Given the description of an element on the screen output the (x, y) to click on. 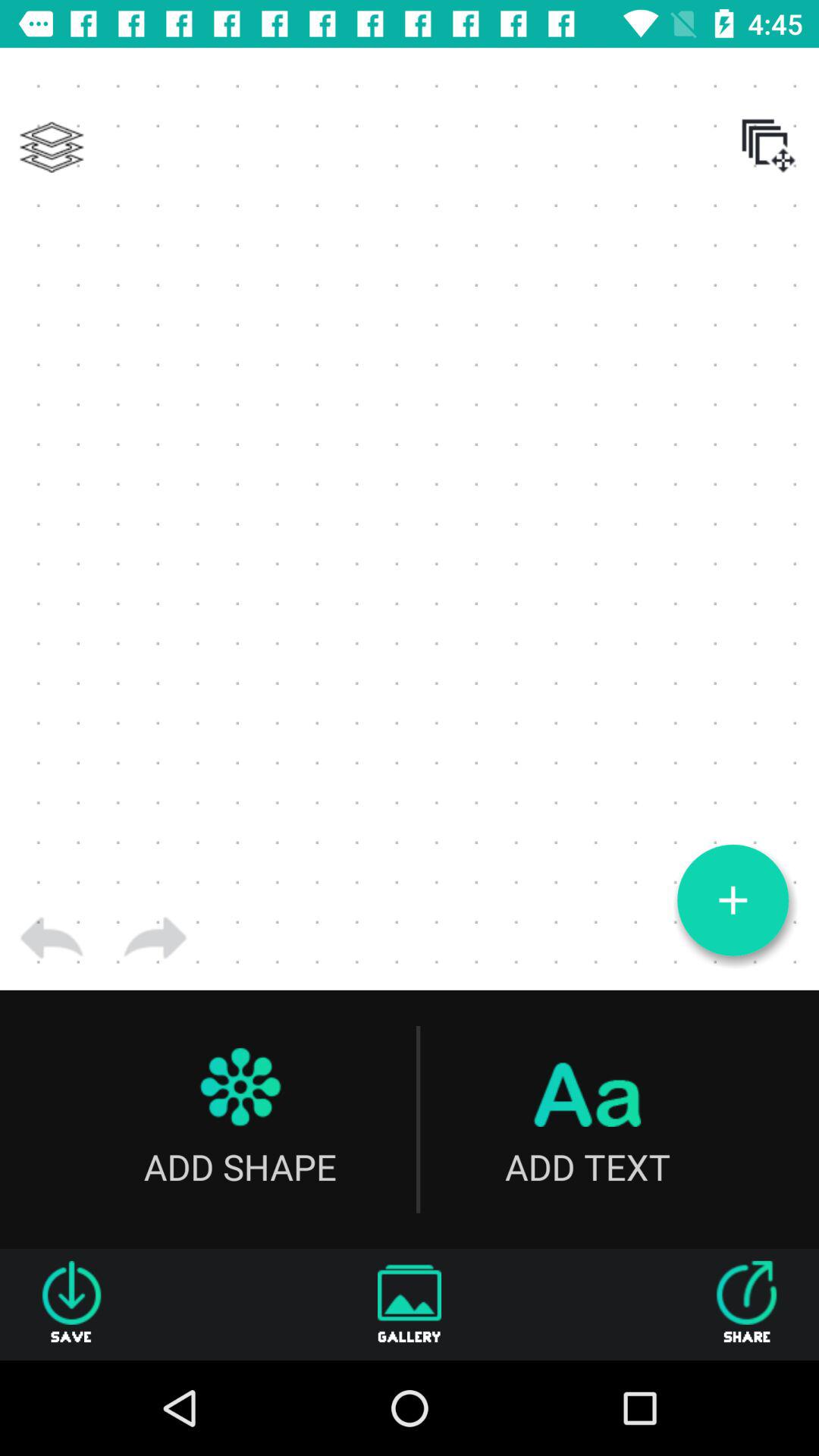
add shape or text (733, 900)
